Given the description of an element on the screen output the (x, y) to click on. 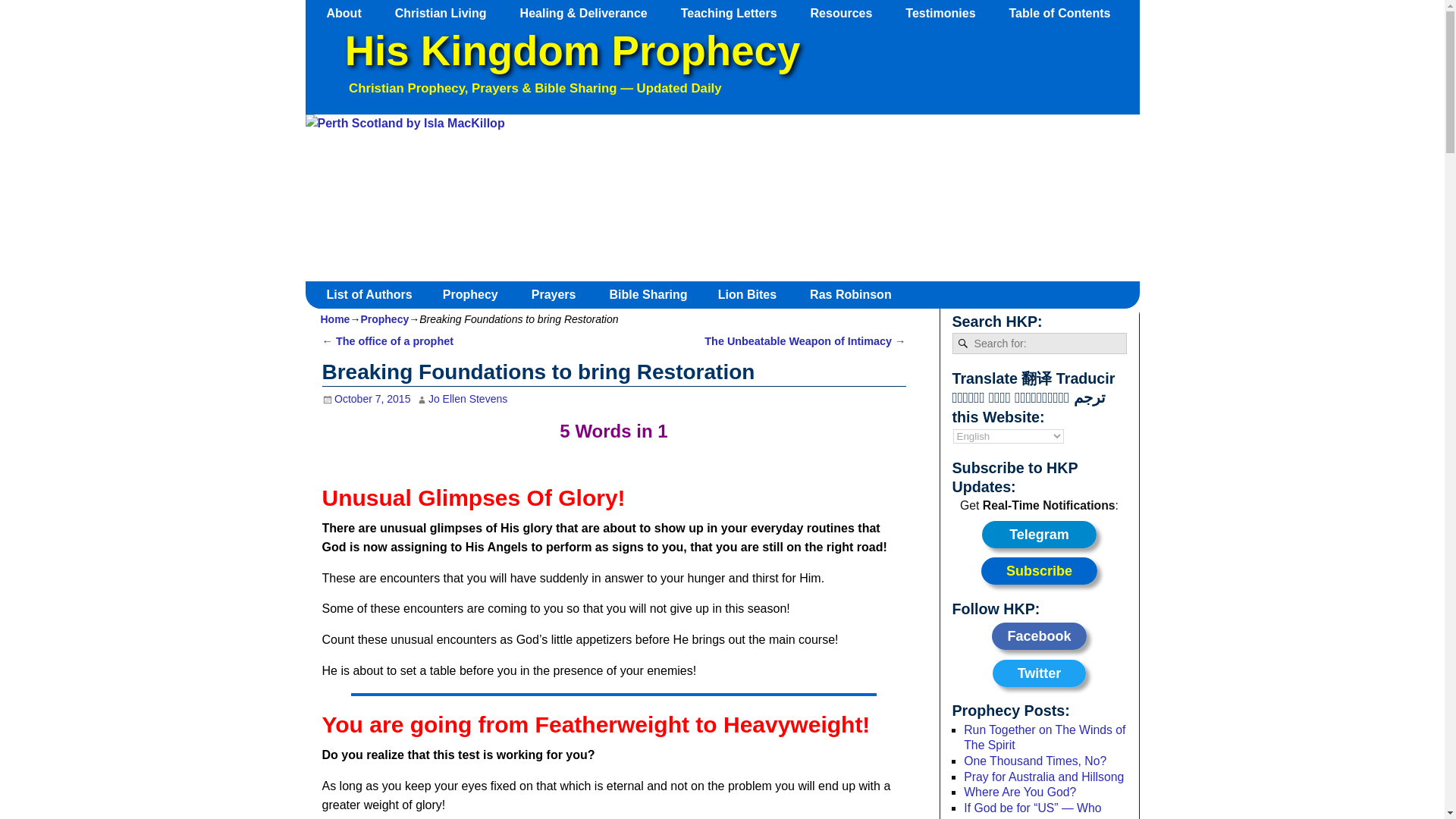
Testimonies (947, 13)
Christian Living (448, 13)
His Kingdom Prophecy (571, 50)
Table of Contents (1066, 13)
His Kingdom Prophecy (571, 50)
8:34 am (365, 398)
Teaching Letters (736, 13)
Resources (849, 13)
About (351, 13)
List of Authors (374, 294)
View all posts by Jo Ellen Stevens (467, 398)
